Given the description of an element on the screen output the (x, y) to click on. 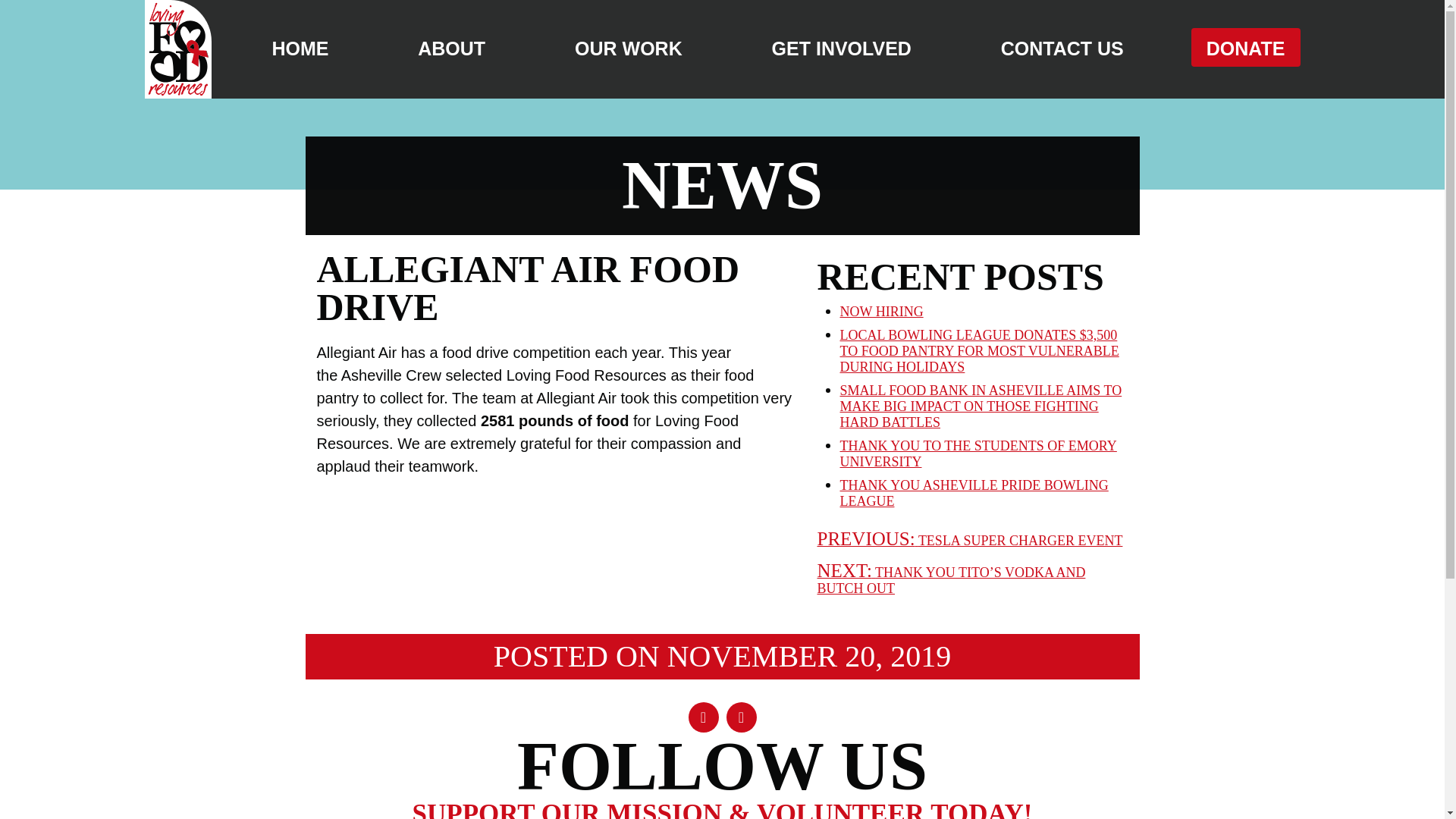
DONATE (1245, 46)
CONTACT US (1062, 50)
OUR WORK (628, 50)
ABOUT (450, 50)
NOW HIRING (881, 311)
HOME (299, 50)
GET INVOLVED (841, 50)
THANK YOU TO THE STUDENTS OF EMORY UNIVERSITY (978, 453)
THANK YOU ASHEVILLE PRIDE BOWLING LEAGUE (974, 492)
PREVIOUS: TESLA SUPER CHARGER EVENT (969, 540)
